Given the description of an element on the screen output the (x, y) to click on. 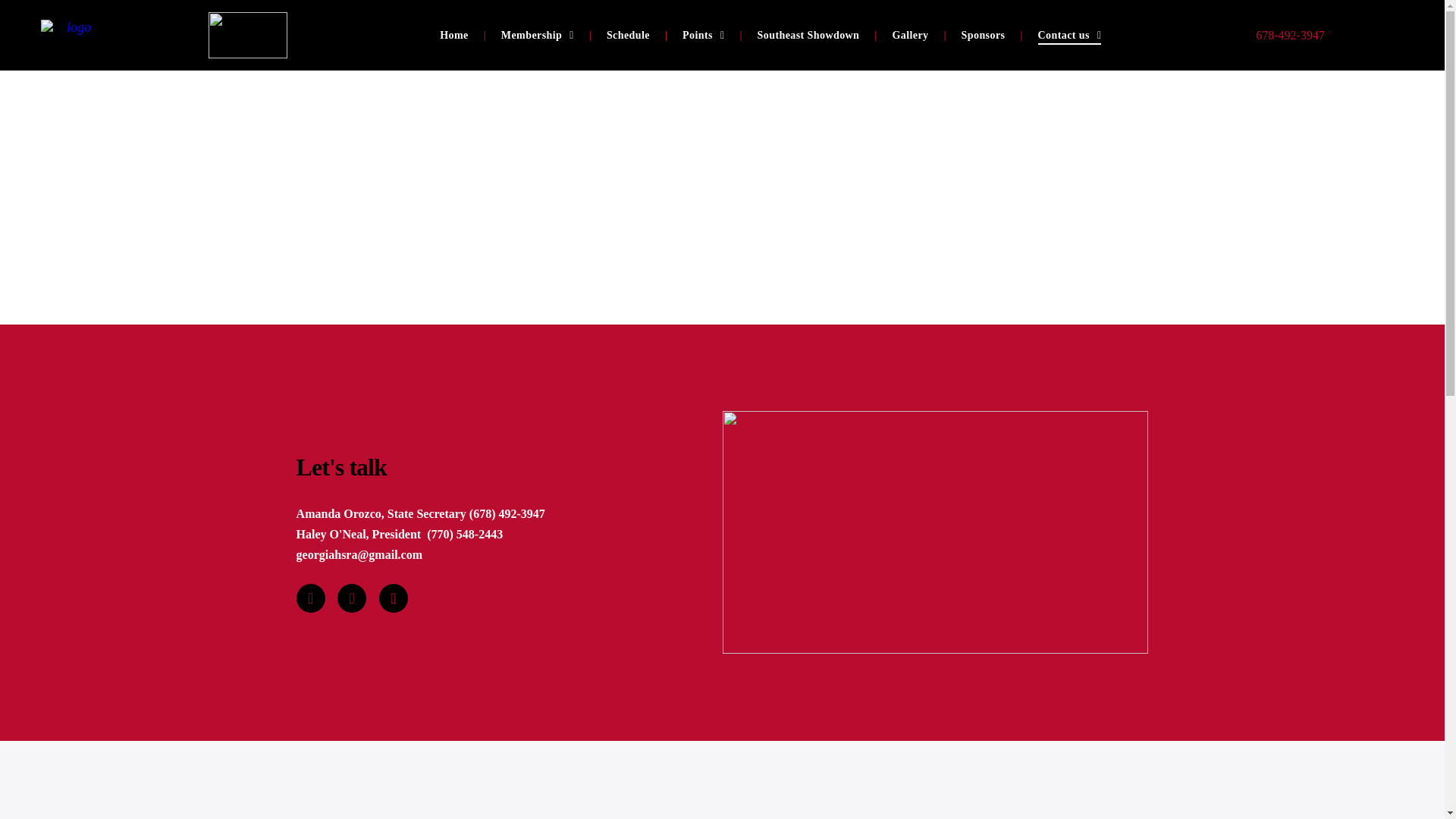
Southeast Showdown (808, 35)
Points (702, 35)
Home (454, 35)
Schedule (628, 35)
Sponsors (983, 35)
Gallery (909, 35)
Membership (537, 35)
Contact us (1069, 35)
